Given the description of an element on the screen output the (x, y) to click on. 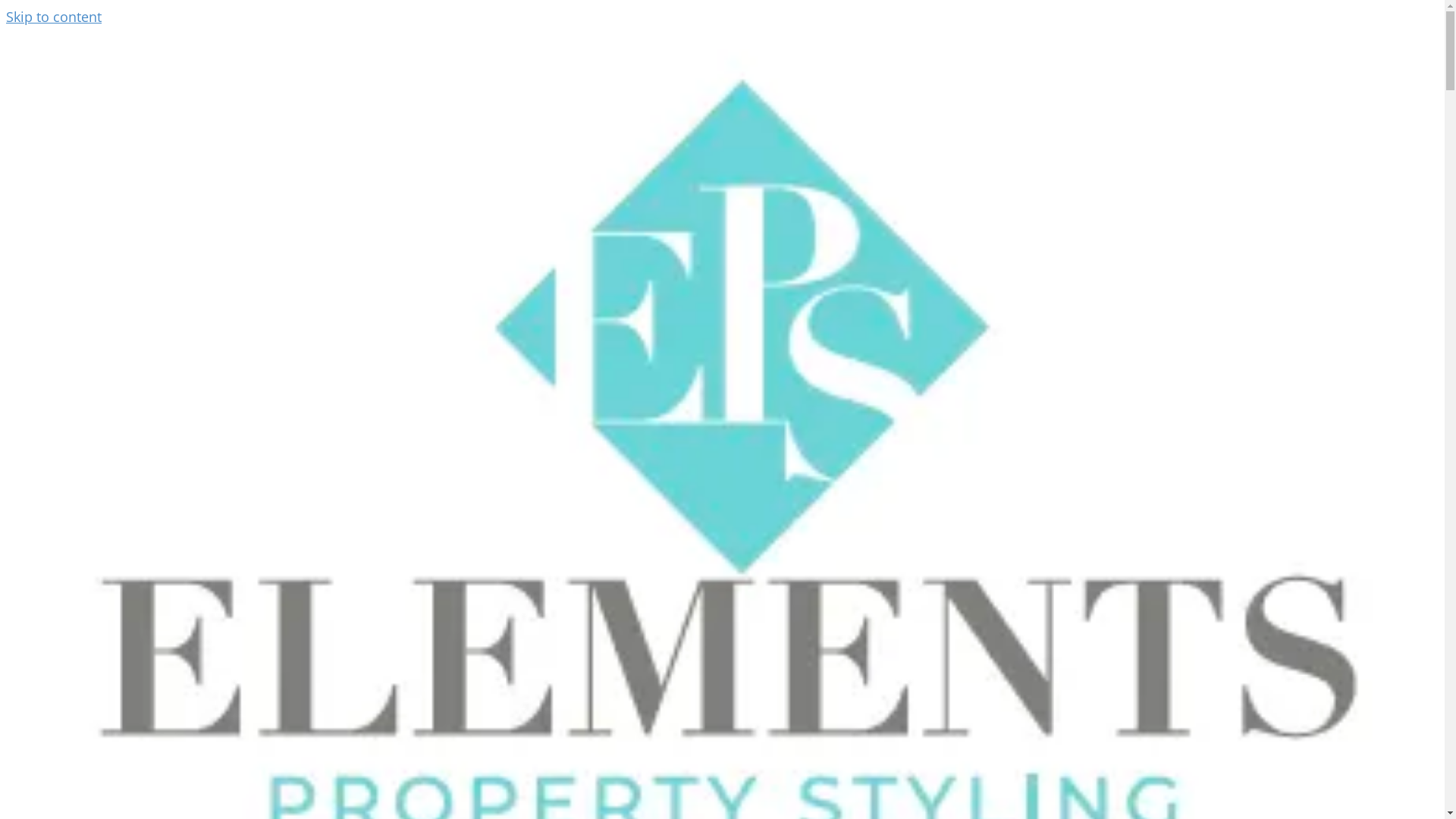
Skip to content Element type: text (53, 16)
